Given the description of an element on the screen output the (x, y) to click on. 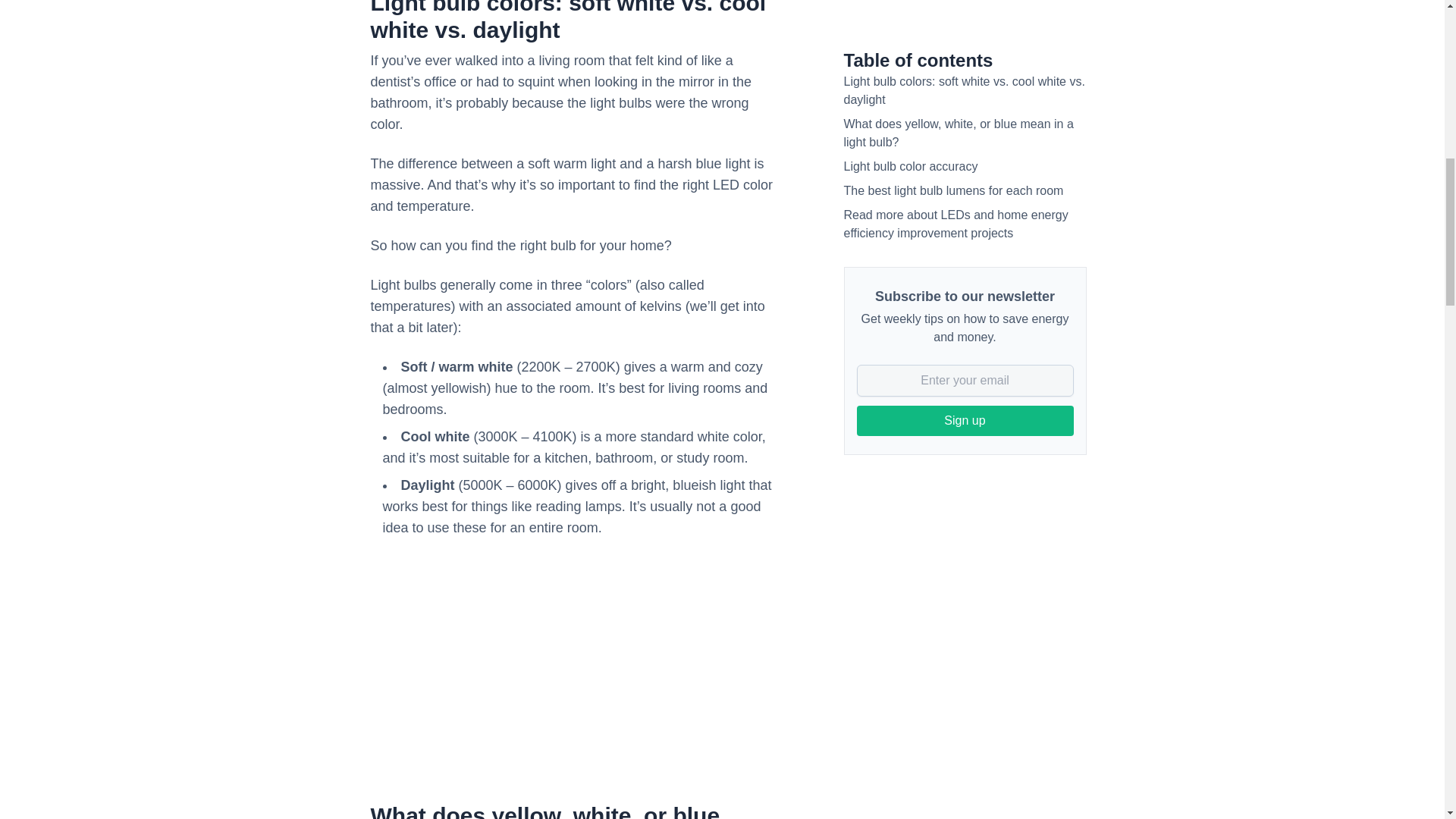
The best light bulb lumens for each room (952, 24)
Light bulb color accuracy (909, 3)
Sign up (965, 255)
